Given the description of an element on the screen output the (x, y) to click on. 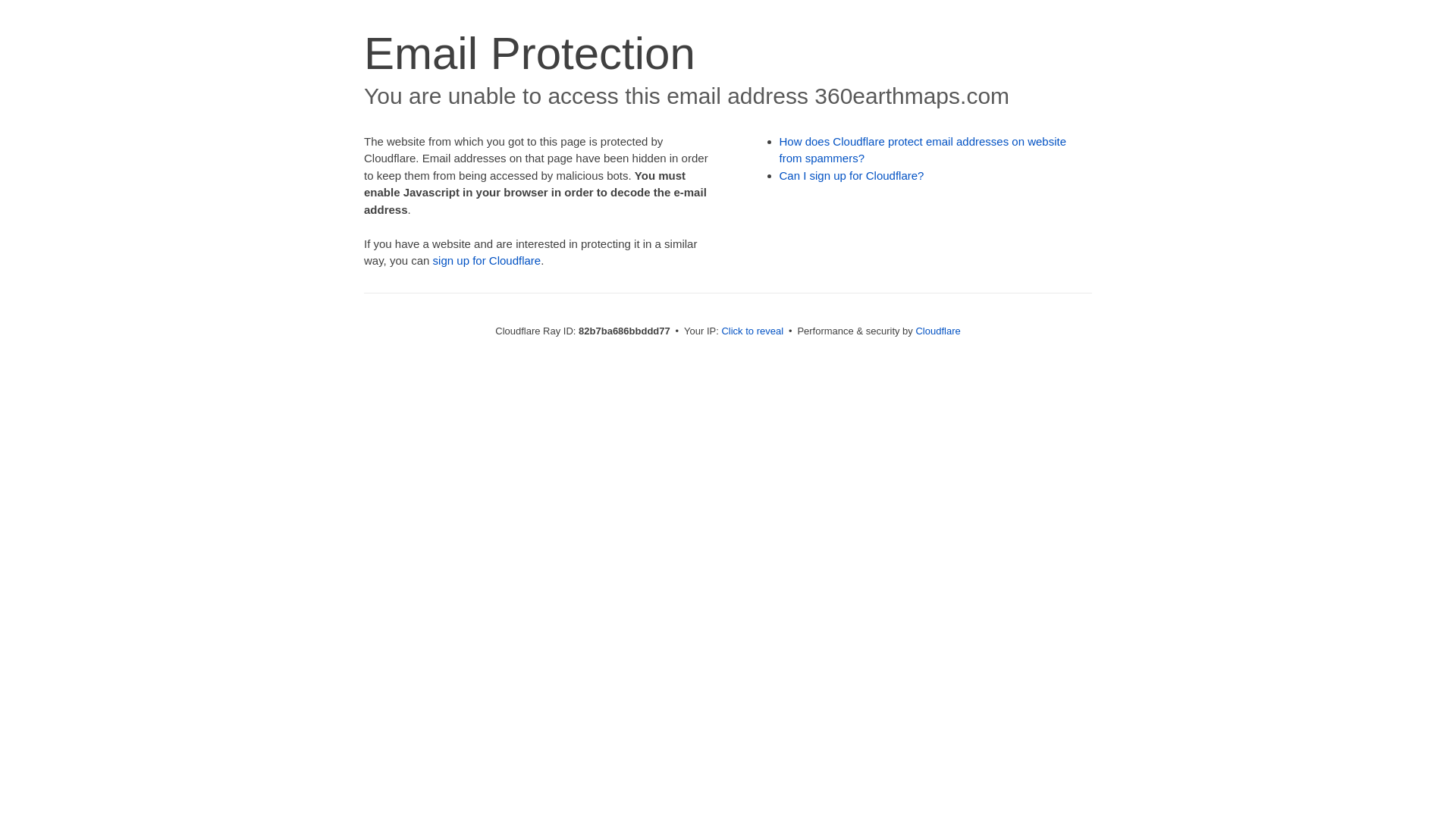
sign up for Cloudflare Element type: text (487, 260)
Cloudflare Element type: text (937, 330)
Can I sign up for Cloudflare? Element type: text (851, 175)
Click to reveal Element type: text (752, 330)
